Given the description of an element on the screen output the (x, y) to click on. 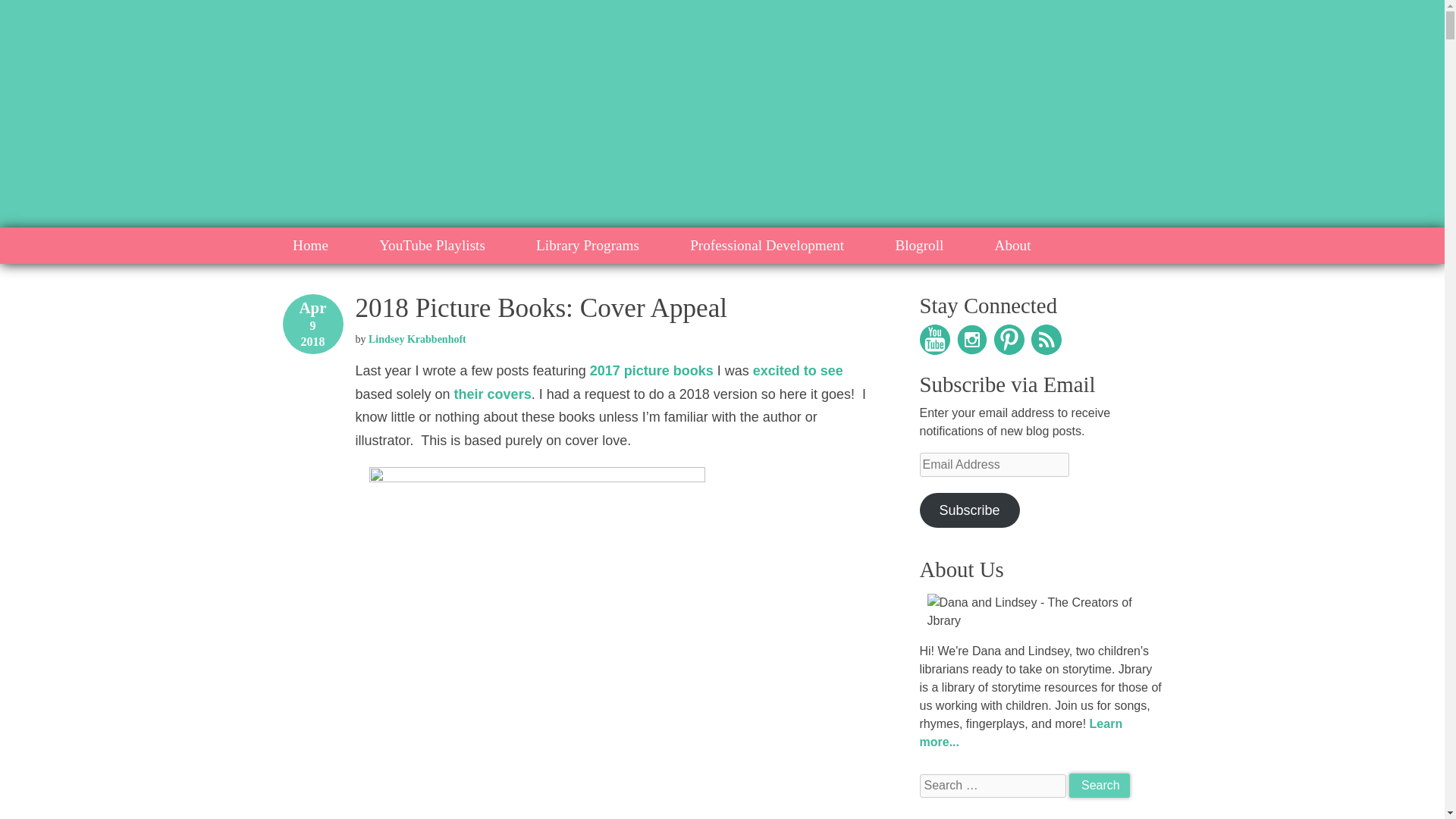
2017 picture books (651, 370)
About (1013, 245)
Blogroll (919, 245)
excited to see (797, 370)
YouTube Playlists (432, 245)
Professional Development (767, 245)
Search (1098, 785)
Library Programs (588, 245)
Home (309, 245)
their covers (492, 394)
